Given the description of an element on the screen output the (x, y) to click on. 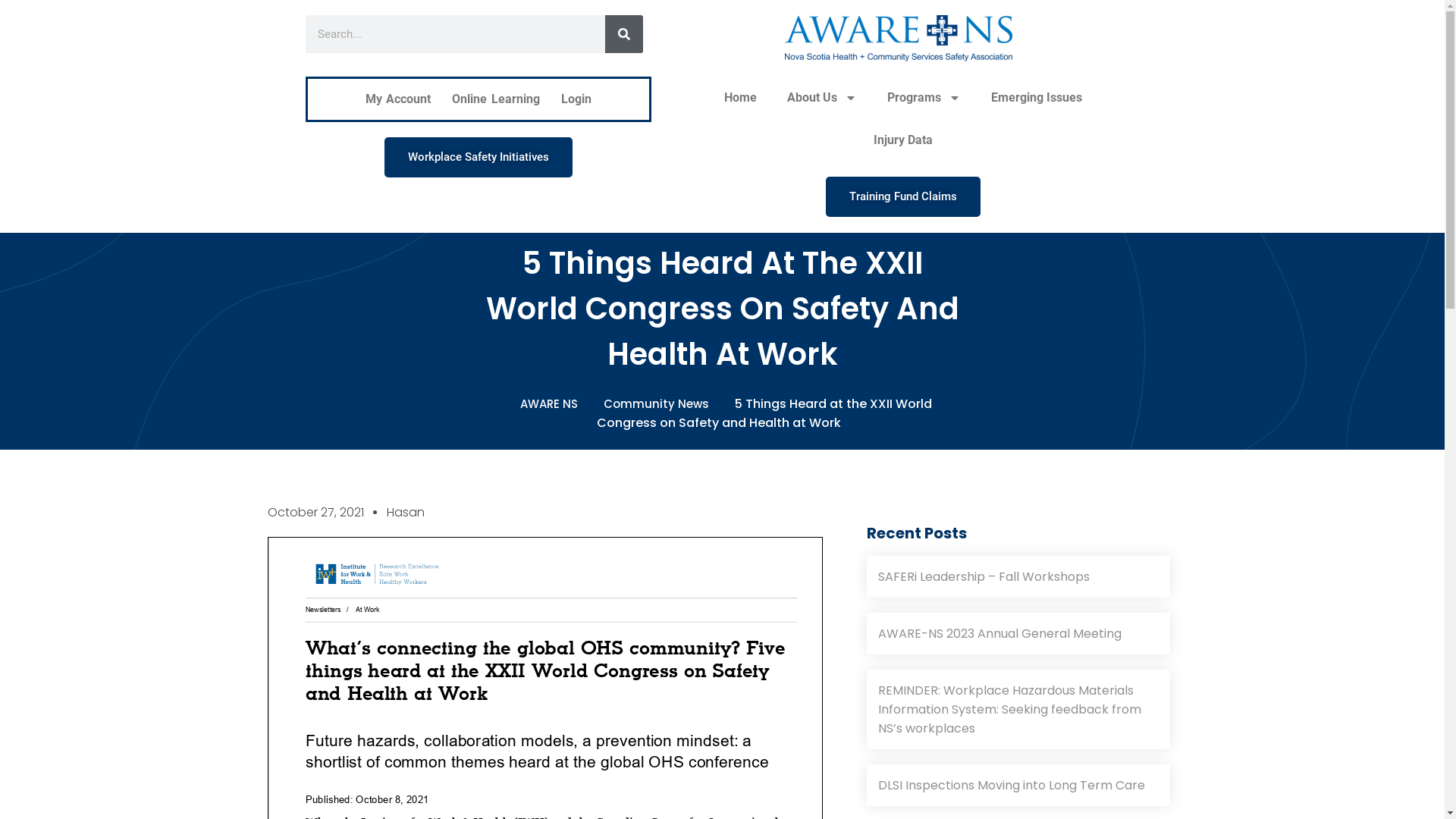
Online Learning Element type: text (495, 99)
Login Element type: text (576, 99)
Home Element type: text (740, 97)
October 27, 2021 Element type: text (314, 511)
Hasan Element type: text (405, 511)
Community News Element type: text (659, 403)
About Us Element type: text (821, 97)
Injury Data Element type: text (902, 140)
Workplace Safety Initiatives Element type: text (478, 157)
AWARE-NS 2023 Annual General Meeting Element type: text (1017, 633)
AWARE NS Element type: text (552, 403)
DLSI Inspections Moving into Long Term Care Element type: text (1017, 785)
Emerging Issues Element type: text (1036, 97)
My Account Element type: text (398, 99)
Programs Element type: text (923, 97)
Training Fund Claims Element type: text (902, 196)
